Given the description of an element on the screen output the (x, y) to click on. 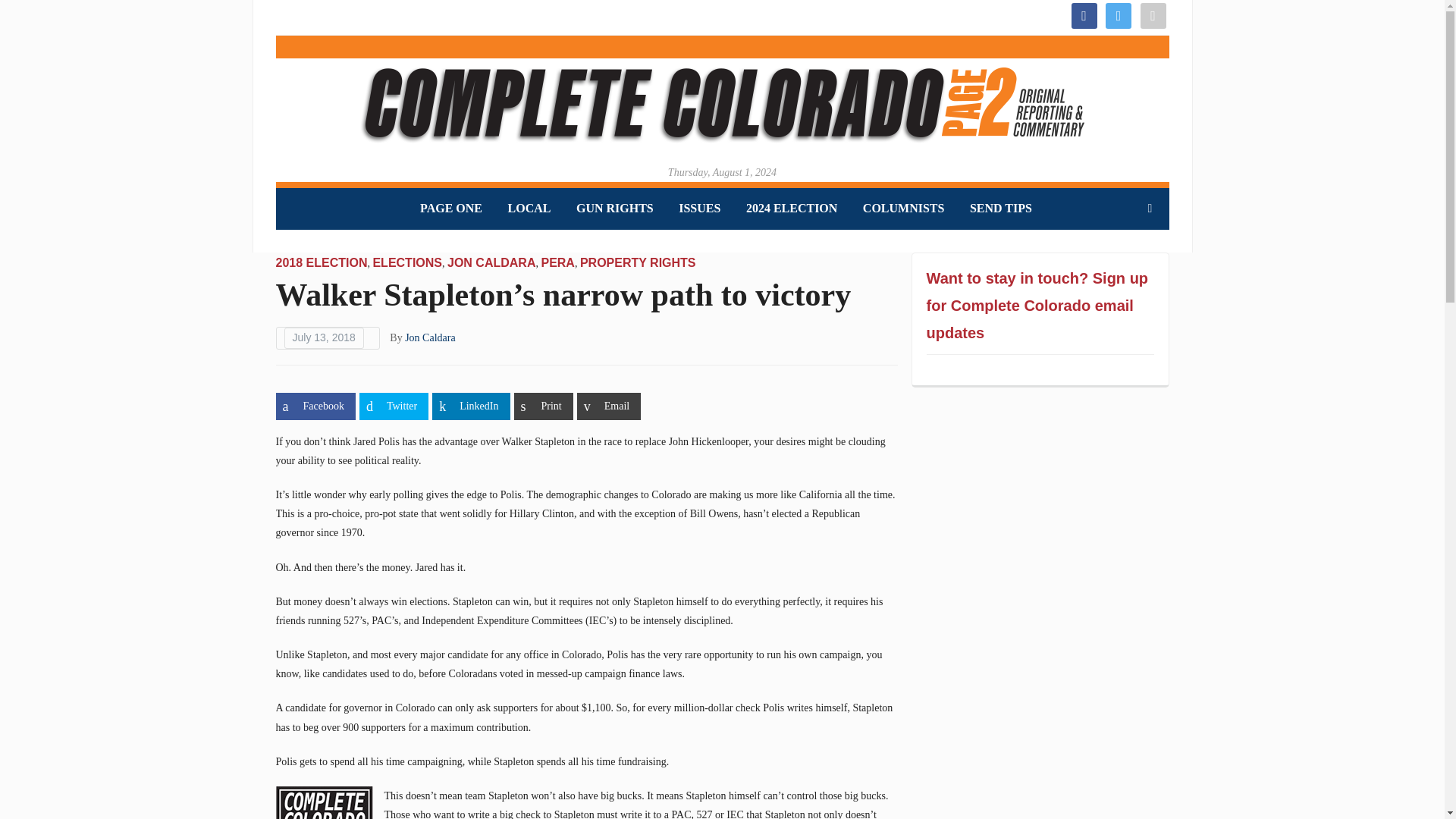
Share on Facebook (315, 406)
Share on Twitter (393, 406)
Share on Print (543, 406)
Share on Email (608, 406)
Share on LinkedIn (470, 406)
Facebook (1083, 14)
facebook (1083, 14)
Twitter (1118, 14)
twitter (1118, 14)
Posts by Jon Caldara (429, 337)
mail (1153, 14)
Search (1149, 208)
Default Label (1153, 14)
